Given the description of an element on the screen output the (x, y) to click on. 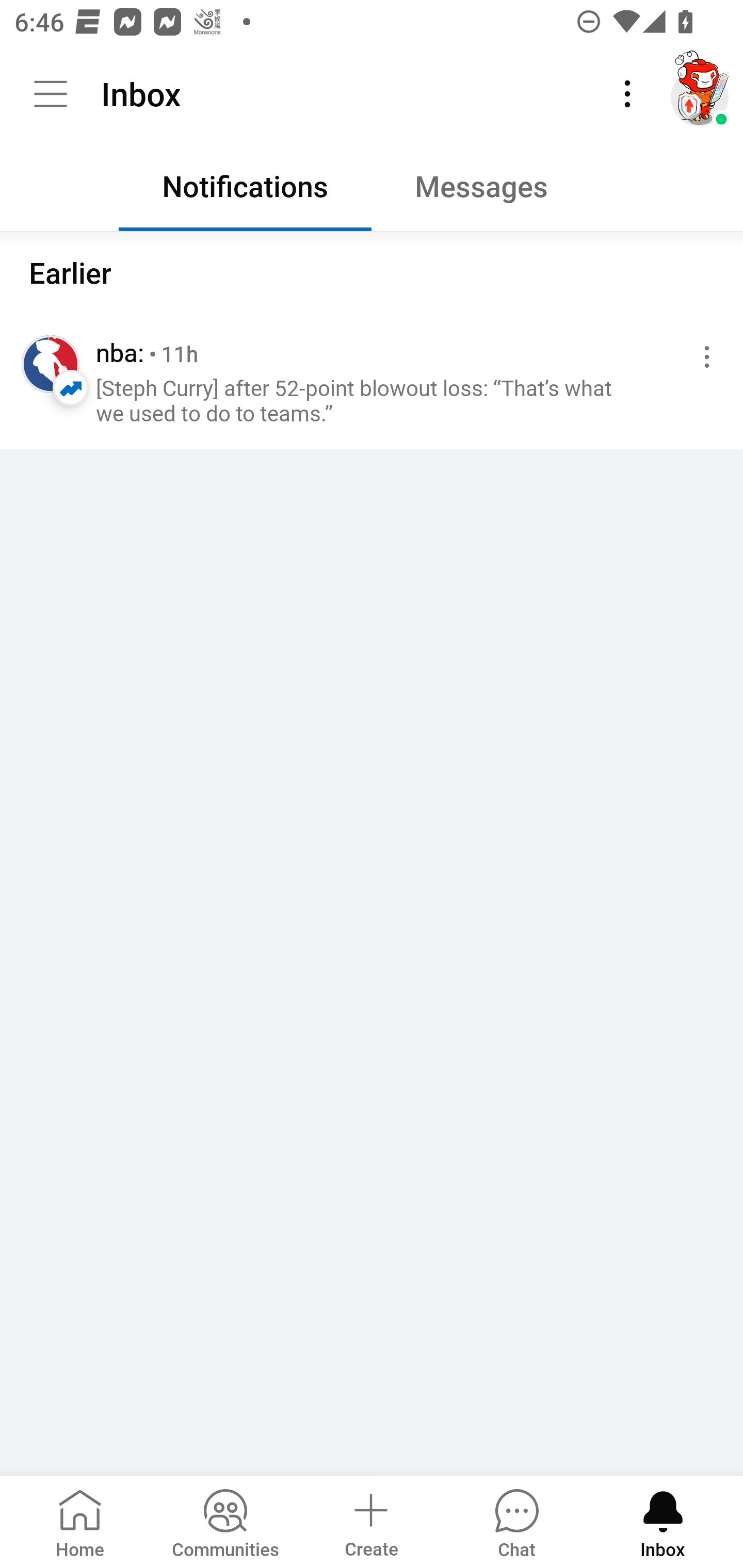
Community menu (50, 93)
More (626, 93)
TestAppium002 account (699, 93)
Messages (497, 191)
More options (703, 356)
Home (80, 1520)
Communities (225, 1520)
Create a post Create (370, 1520)
Chat (516, 1520)
Inbox (662, 1520)
